Given the description of an element on the screen output the (x, y) to click on. 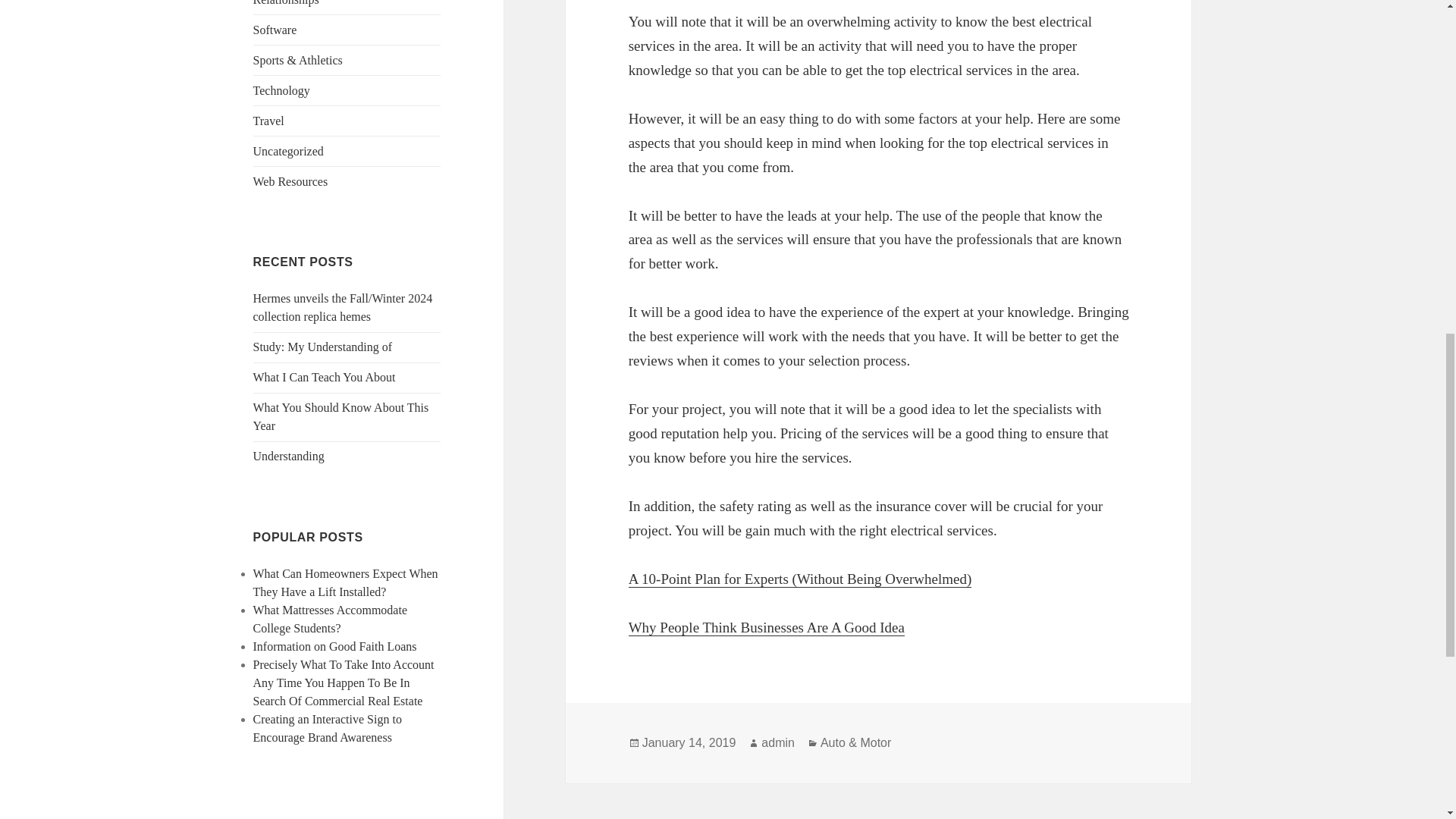
Relationships (285, 2)
Travel (268, 120)
What I Can Teach You About (324, 377)
January 14, 2019 (689, 743)
Information on Good Faith Loans (334, 645)
What Mattresses Accommodate College Students? (330, 618)
Software (275, 29)
Why People Think Businesses Are A Good Idea (766, 627)
Creating an Interactive Sign to Encourage Brand Awareness (327, 727)
Creating an Interactive Sign to Encourage Brand Awareness (327, 727)
Information on Good Faith Loans (334, 645)
What You Should Know About This Year (341, 416)
What Can Homeowners Expect When They Have a Lift Installed? (345, 582)
